Given the description of an element on the screen output the (x, y) to click on. 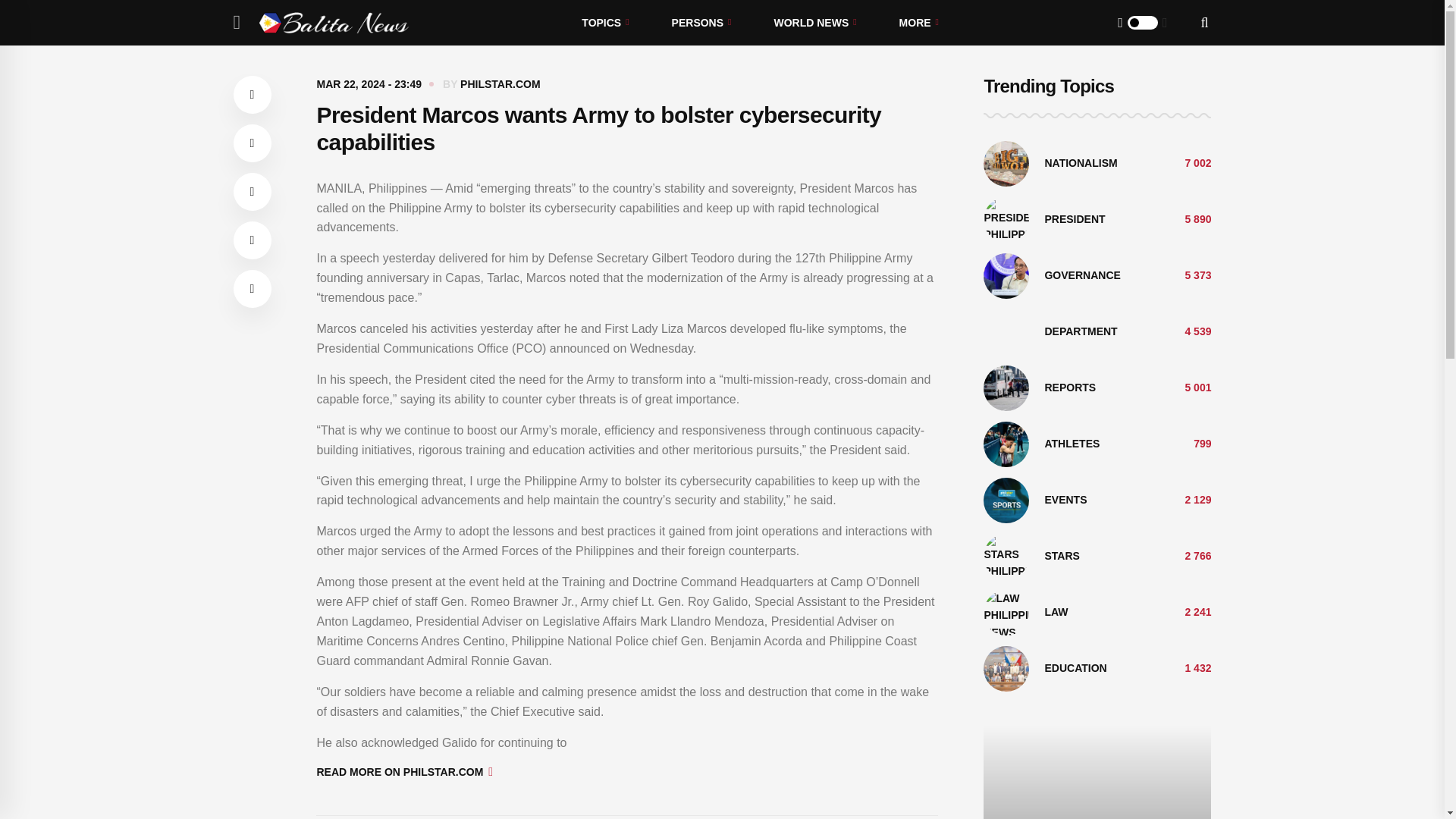
MORE (918, 22)
Topics (604, 22)
PERSONS (701, 22)
Persons (701, 22)
TOPICS (604, 22)
WORLD NEWS (814, 22)
Philippine News Today on balita.org (334, 22)
